Given the description of an element on the screen output the (x, y) to click on. 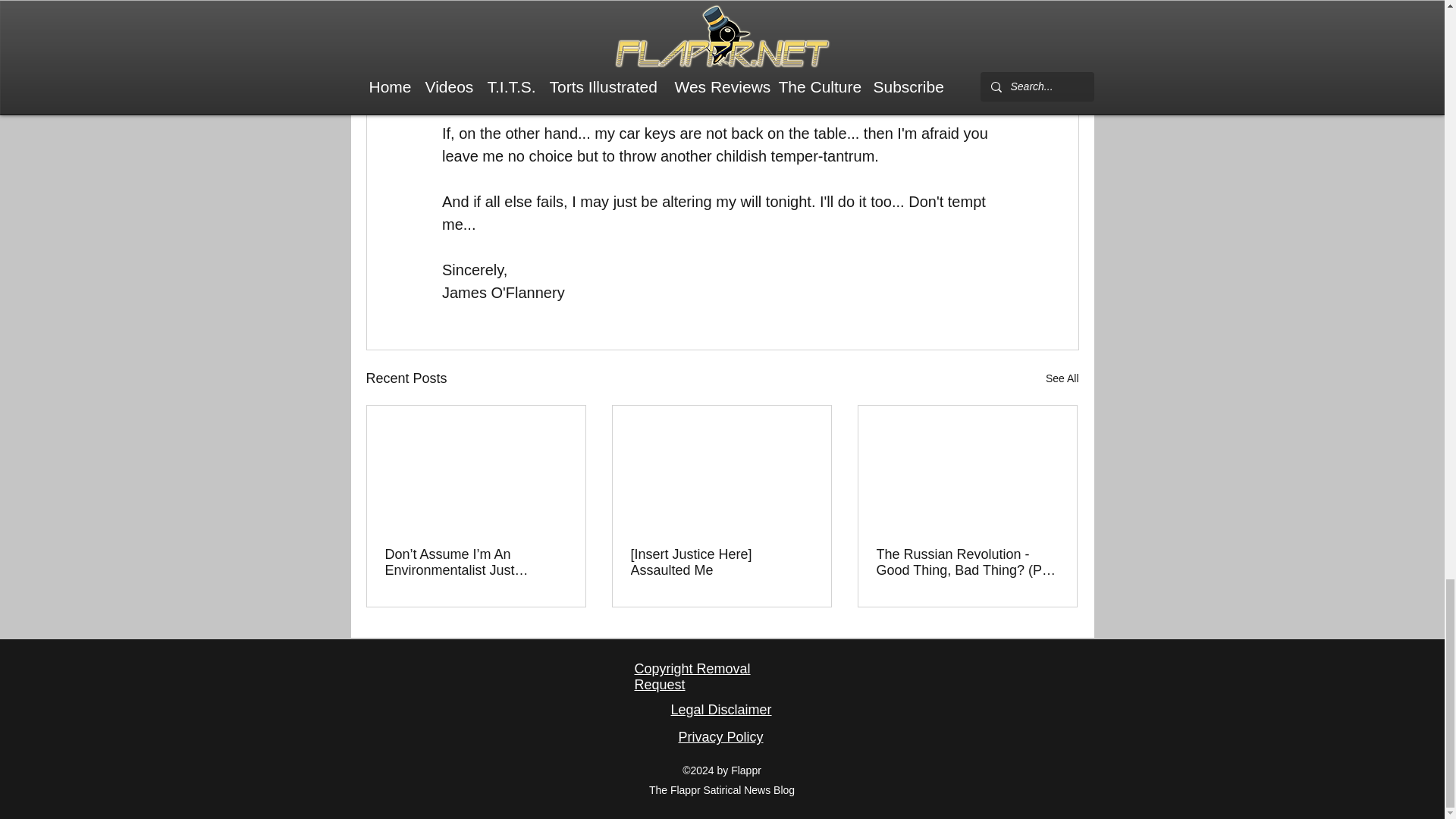
See All (1061, 378)
Copyright Removal Request (691, 676)
Legal Disclaimer (720, 709)
Privacy Policy (720, 736)
